Given the description of an element on the screen output the (x, y) to click on. 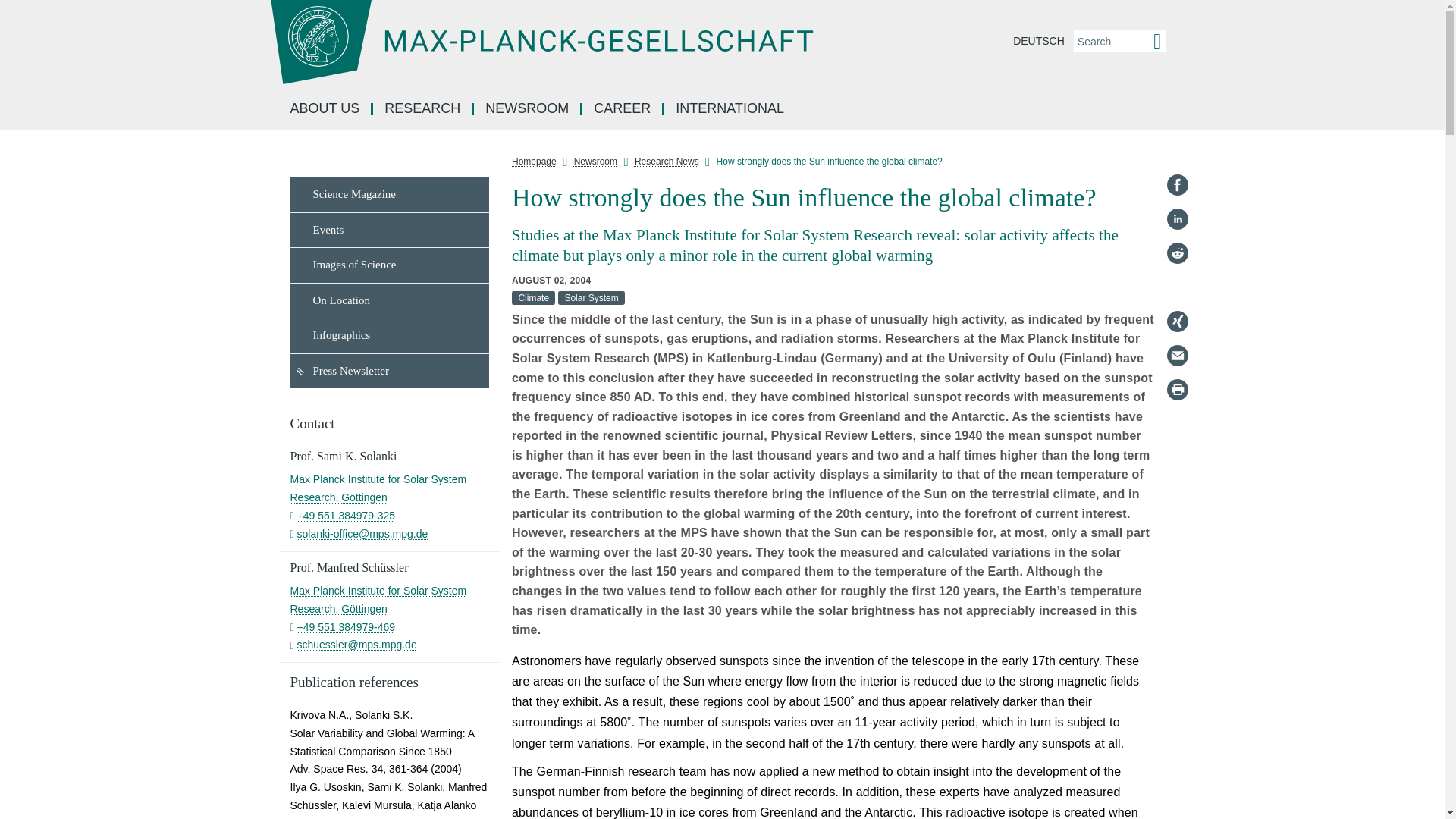
Reddit (1177, 252)
Twitter (1177, 287)
Xing (1177, 321)
LinkedIn (1177, 219)
E-Mail (1177, 354)
ABOUT US (326, 108)
Print (1177, 389)
DEUTSCH (1038, 41)
Facebook (1177, 184)
